Given the description of an element on the screen output the (x, y) to click on. 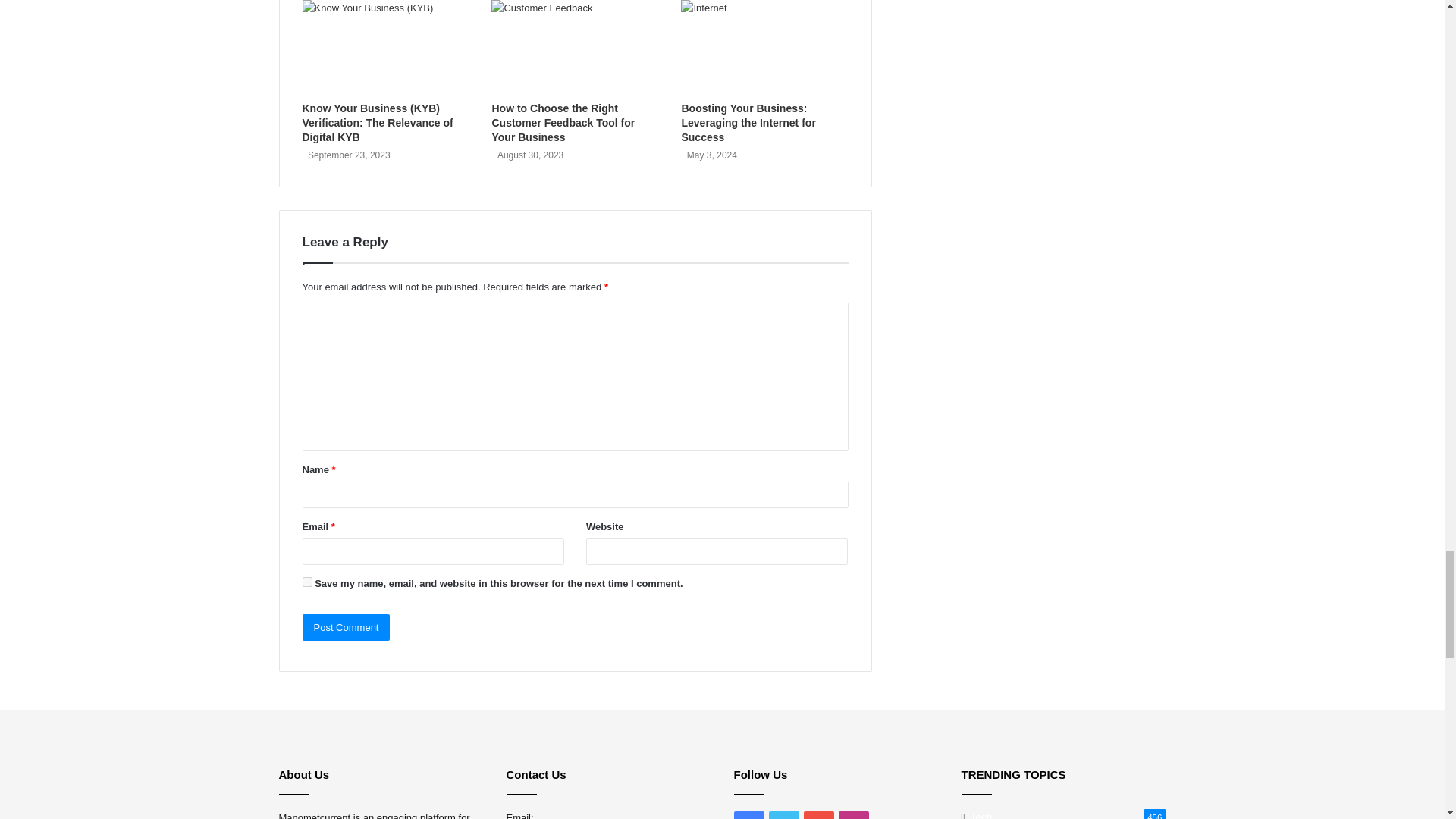
Boosting Your Business: Leveraging the Internet for Success (748, 122)
Post Comment (345, 627)
Post Comment (345, 627)
yes (306, 582)
